Given the description of an element on the screen output the (x, y) to click on. 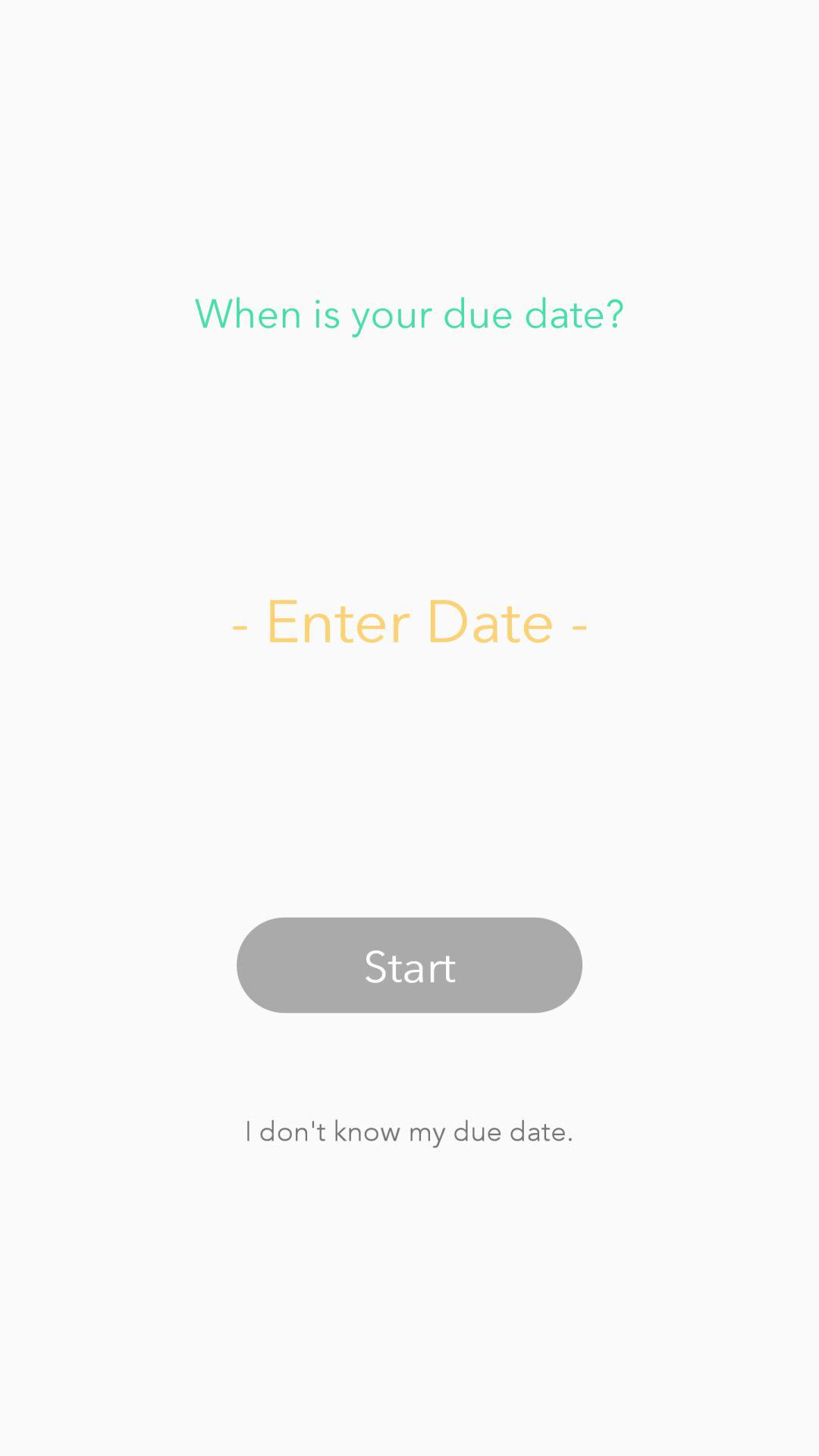
press - enter date - item (409, 618)
